Given the description of an element on the screen output the (x, y) to click on. 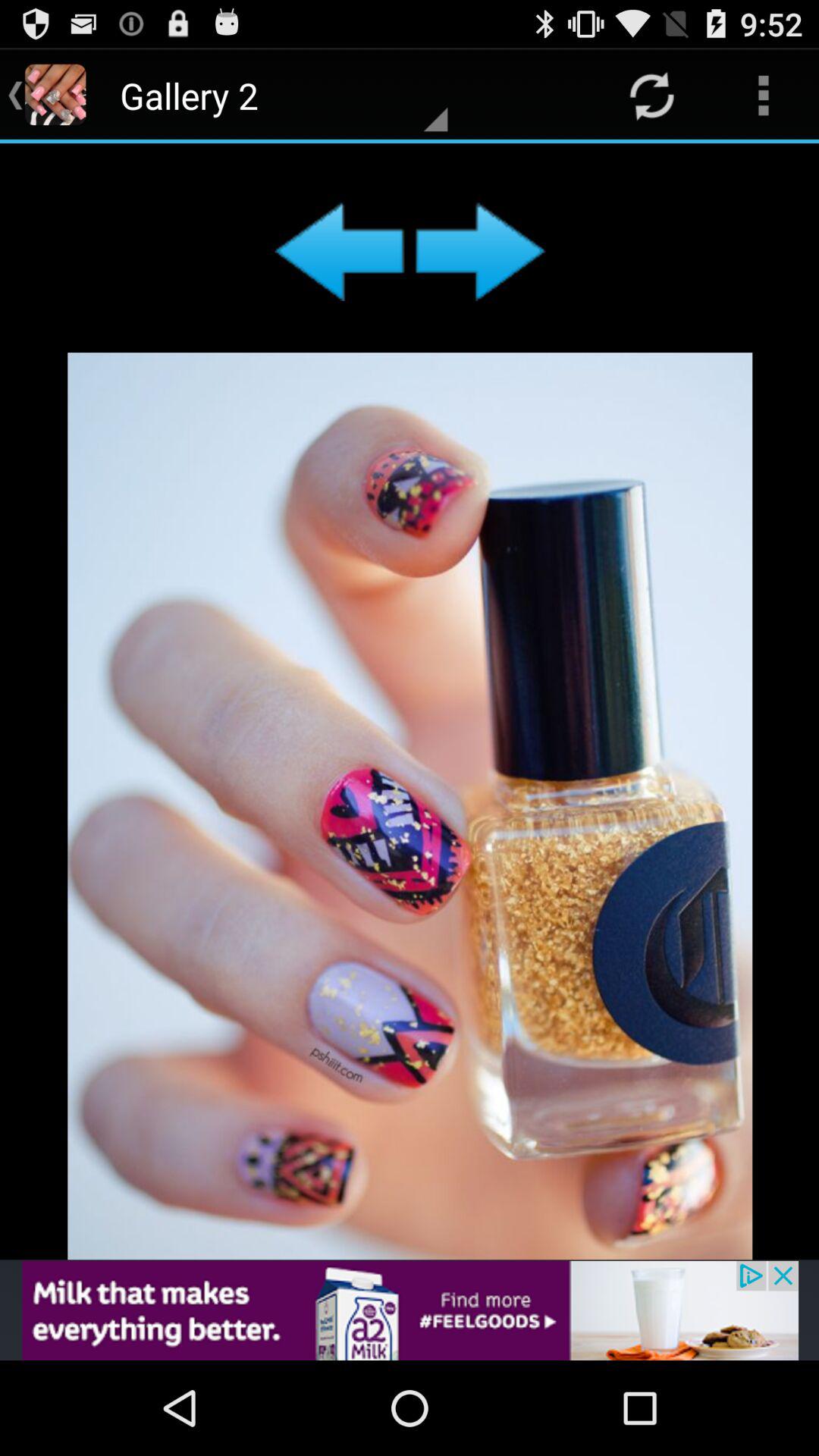
advertisement (409, 1310)
